Given the description of an element on the screen output the (x, y) to click on. 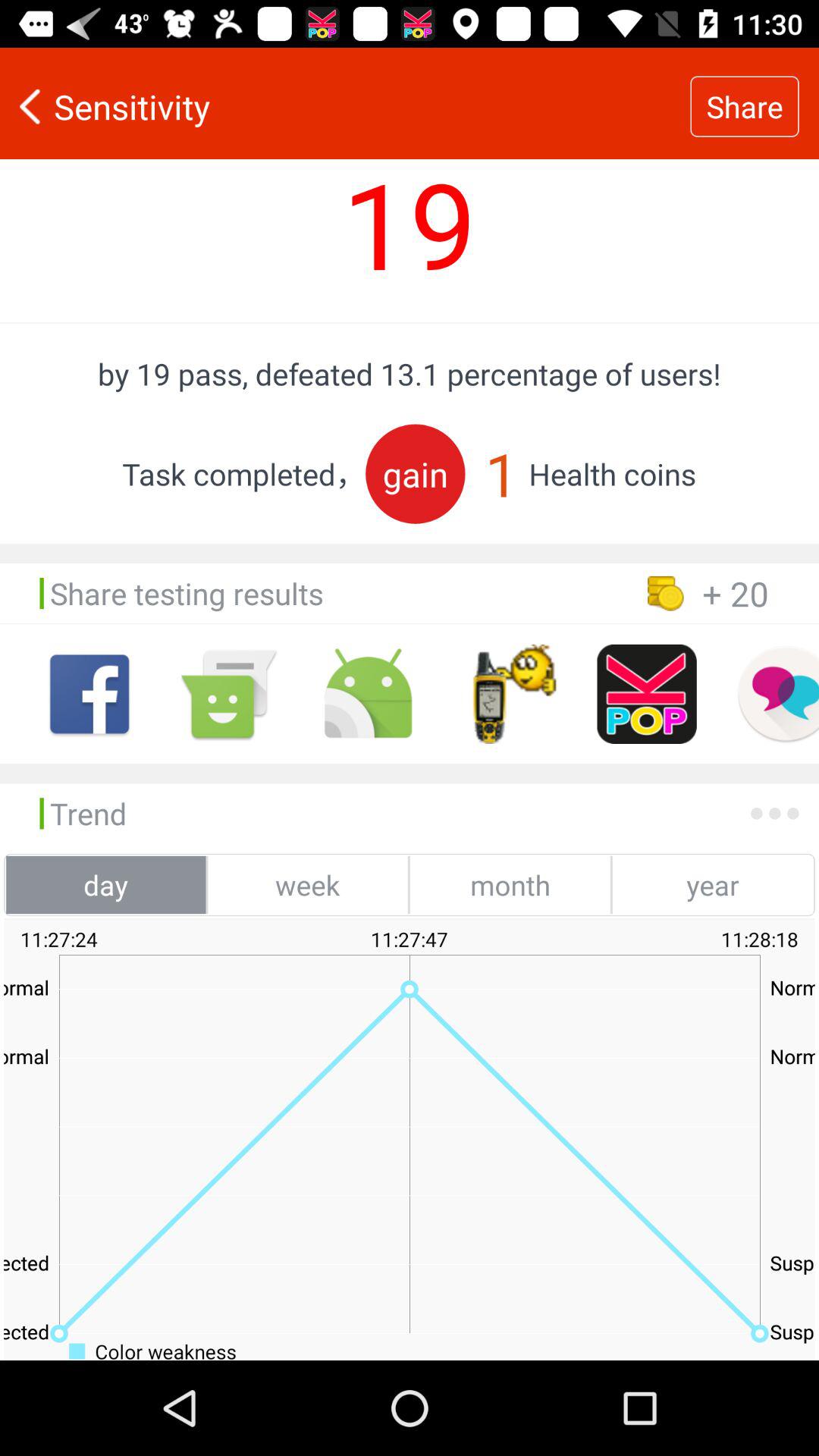
share on facebook (89, 693)
